Given the description of an element on the screen output the (x, y) to click on. 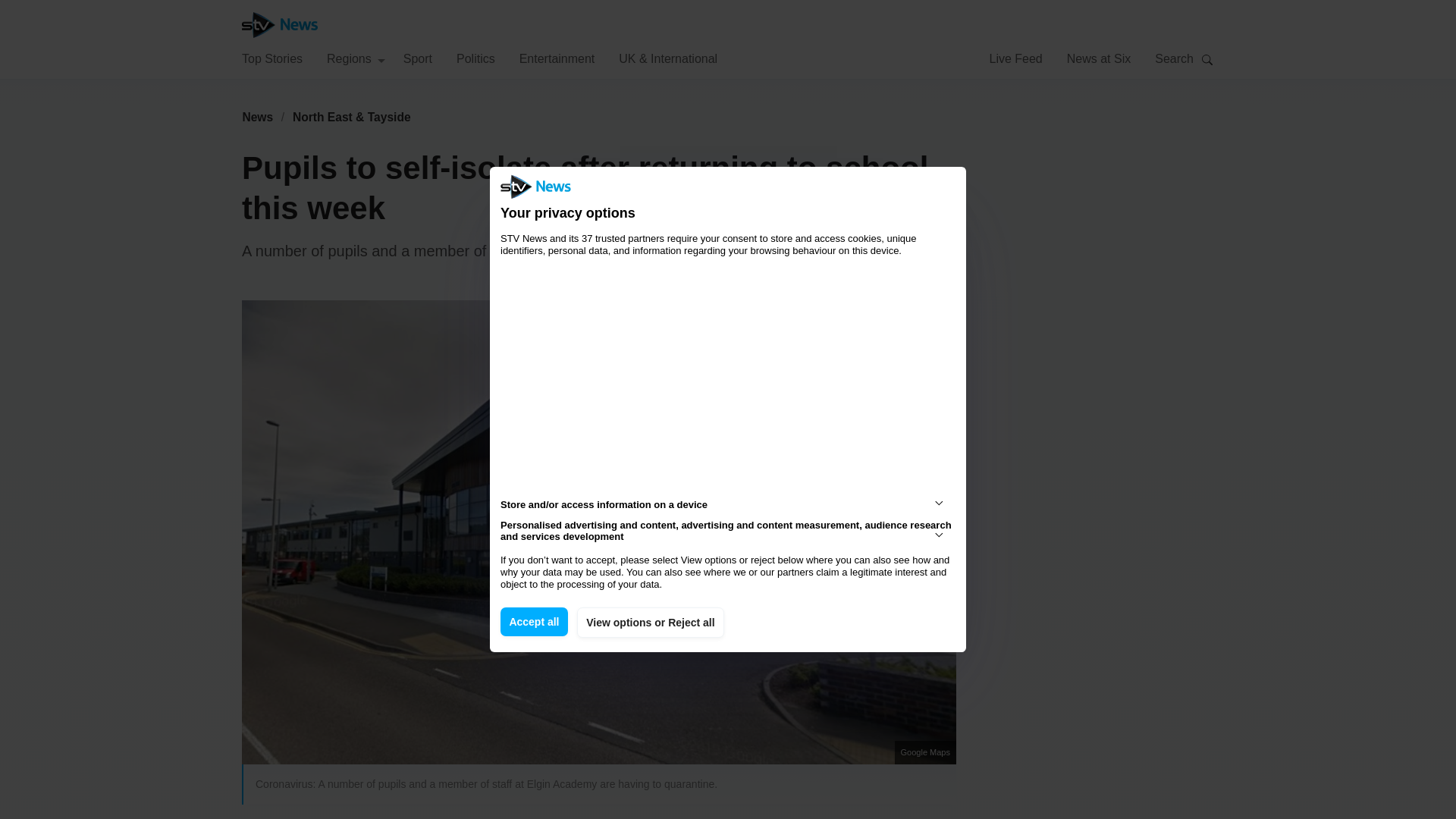
News (257, 116)
Entertainment (557, 57)
News at Six (1099, 57)
Regions (355, 57)
Top Stories (271, 57)
Live Feed (1015, 57)
Politics (476, 57)
Search (1206, 59)
